Given the description of an element on the screen output the (x, y) to click on. 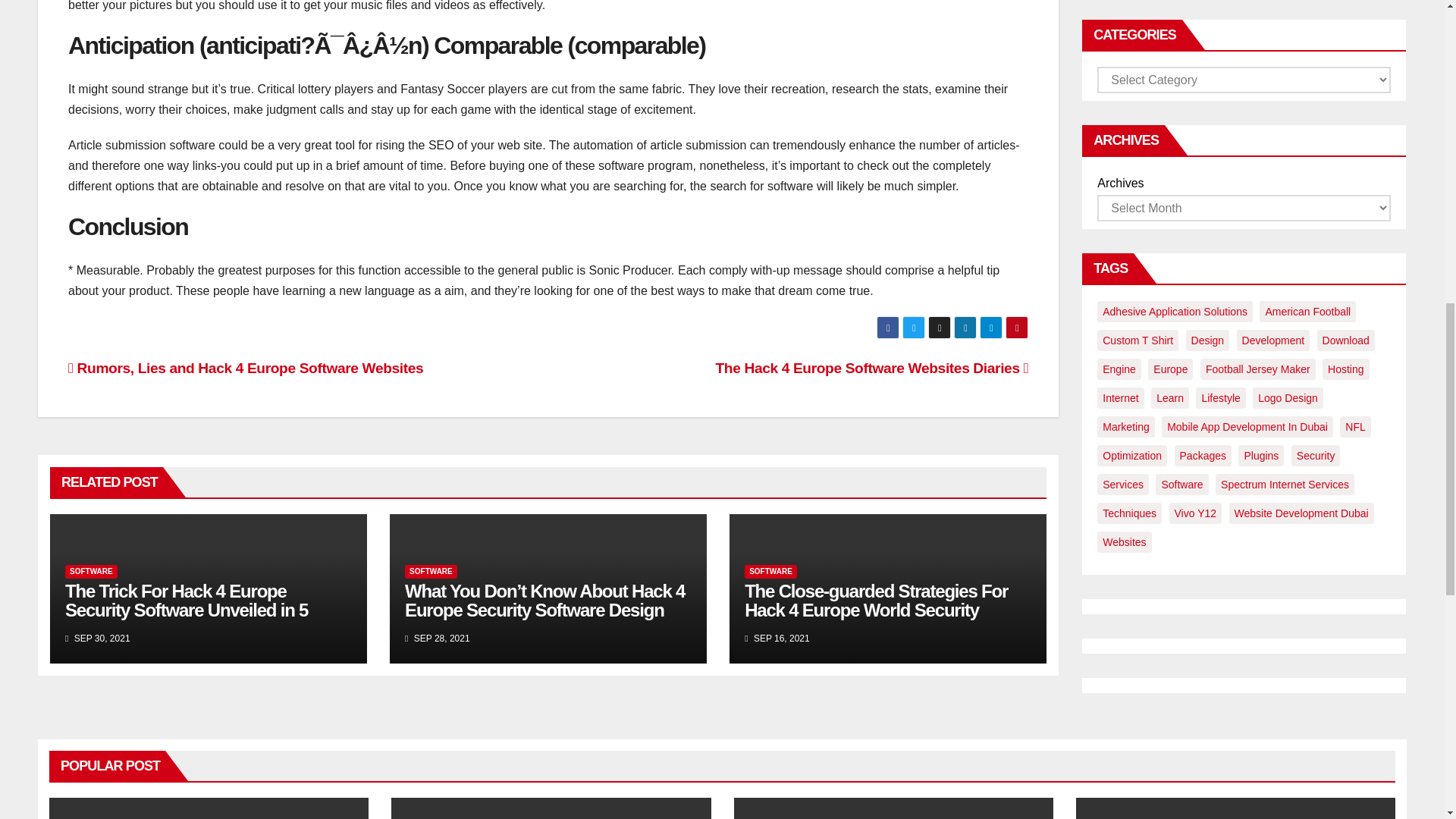
SOFTWARE (770, 571)
Rumors, Lies and Hack 4 Europe Software Websites (245, 367)
SOFTWARE (430, 571)
The Hack 4 Europe Software Websites Diaries (872, 367)
SOFTWARE (91, 571)
